Given the description of an element on the screen output the (x, y) to click on. 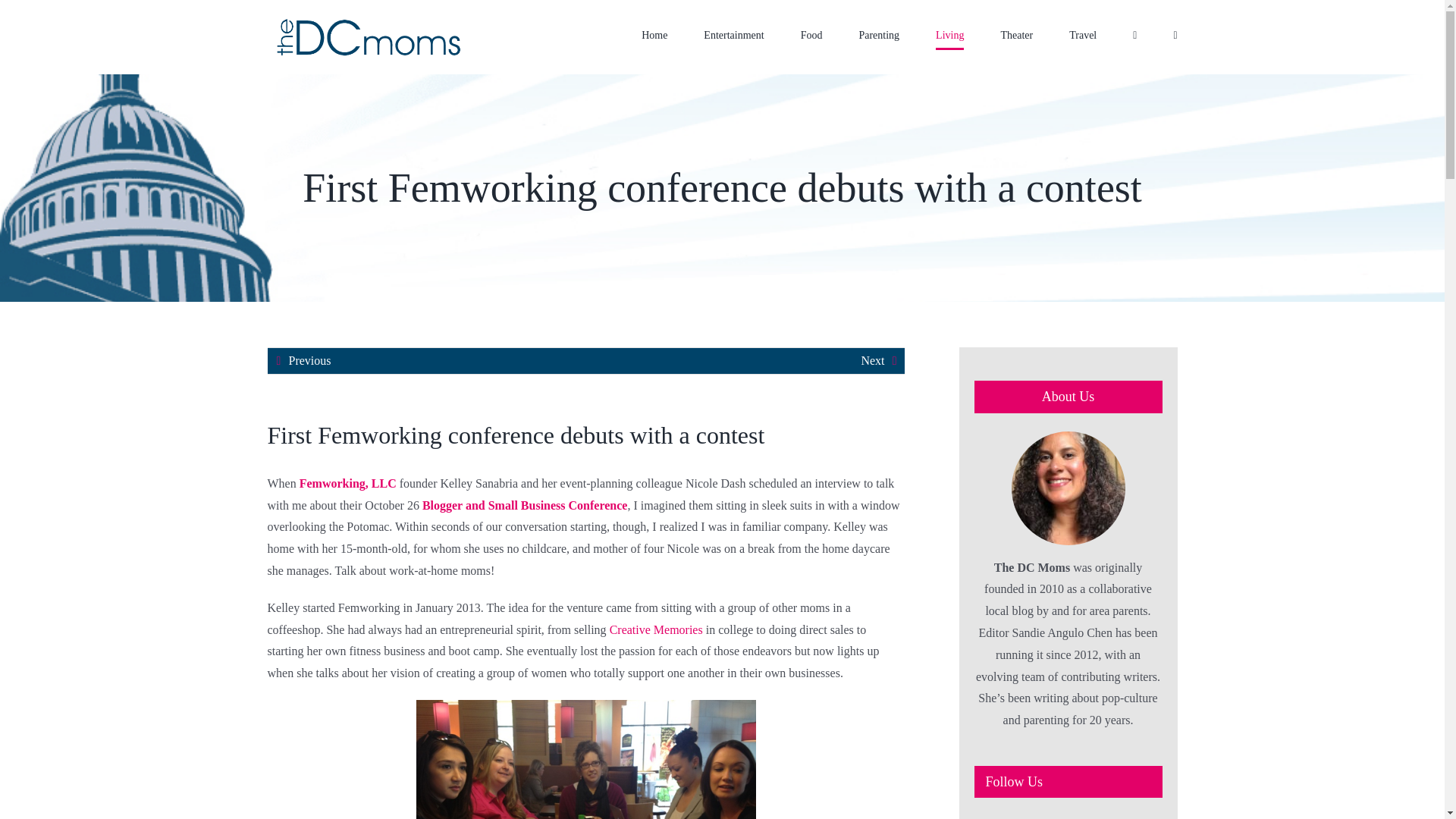
Femworking conference (524, 504)
Previous (309, 360)
Next (871, 360)
Femworking, LLC (347, 482)
Blogger and Small Business Conference (524, 504)
Creative Memories (656, 629)
Femworking (347, 482)
Creative Memories (656, 629)
